Given the description of an element on the screen output the (x, y) to click on. 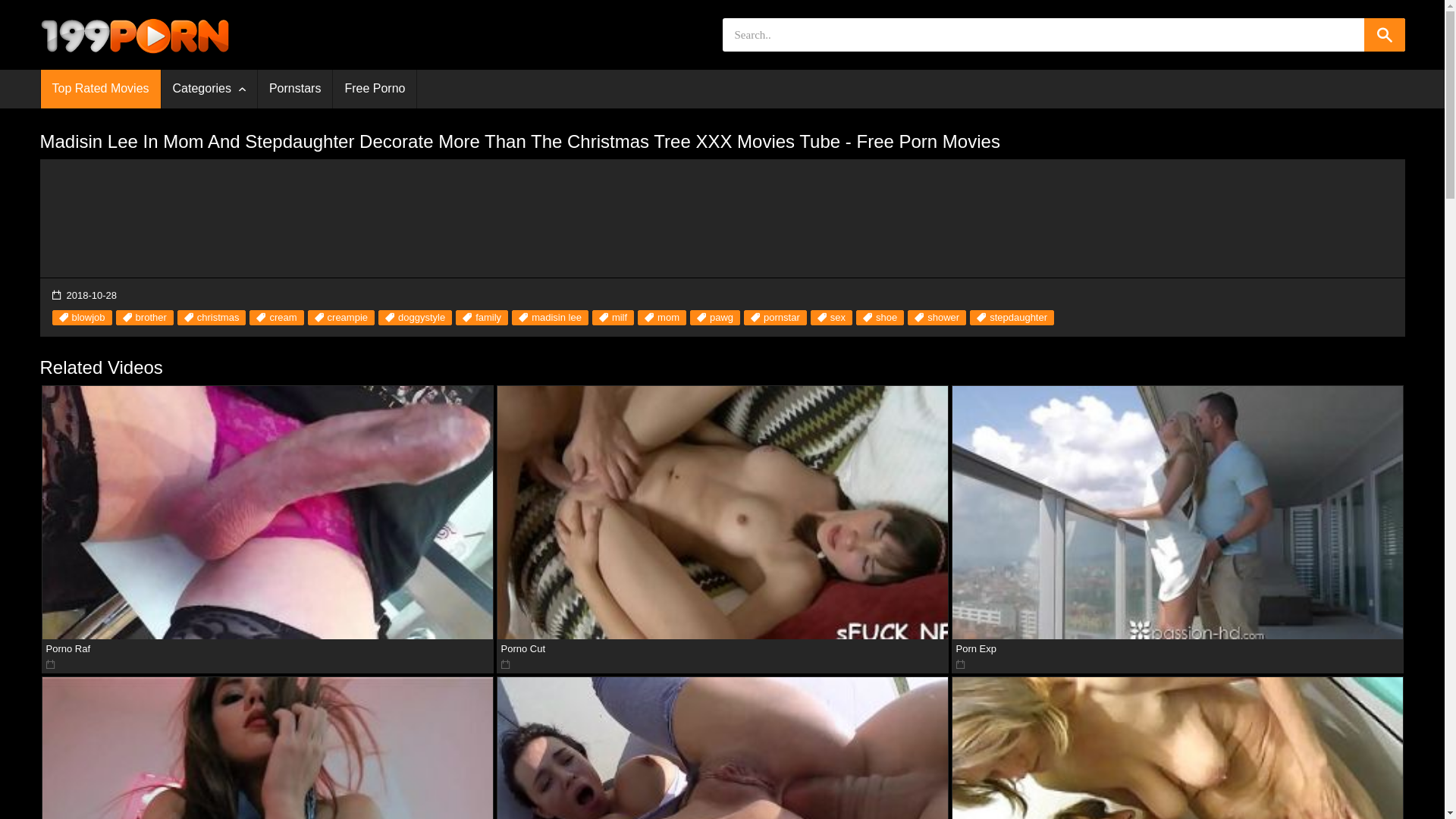
blowjob Element type: text (81, 317)
Categories Element type: text (209, 88)
Porno Raf Element type: hover (267, 512)
doggystyle Element type: text (414, 317)
madisin lee Element type: text (549, 317)
Porno Cut Element type: hover (722, 512)
family Element type: text (481, 317)
shower Element type: text (936, 317)
milf Element type: text (612, 317)
Porn Exp Element type: hover (1177, 512)
creampie Element type: text (340, 317)
Pornstars Element type: text (294, 88)
mom Element type: text (661, 317)
christmas Element type: text (211, 317)
pawg Element type: text (715, 317)
Top Rated Movies Element type: text (100, 88)
cream Element type: text (276, 317)
shoe Element type: text (879, 317)
Free Porno Element type: text (374, 88)
stepdaughter Element type: text (1011, 317)
pornstar Element type: text (774, 317)
sex Element type: text (831, 317)
brother Element type: text (144, 317)
